Given the description of an element on the screen output the (x, y) to click on. 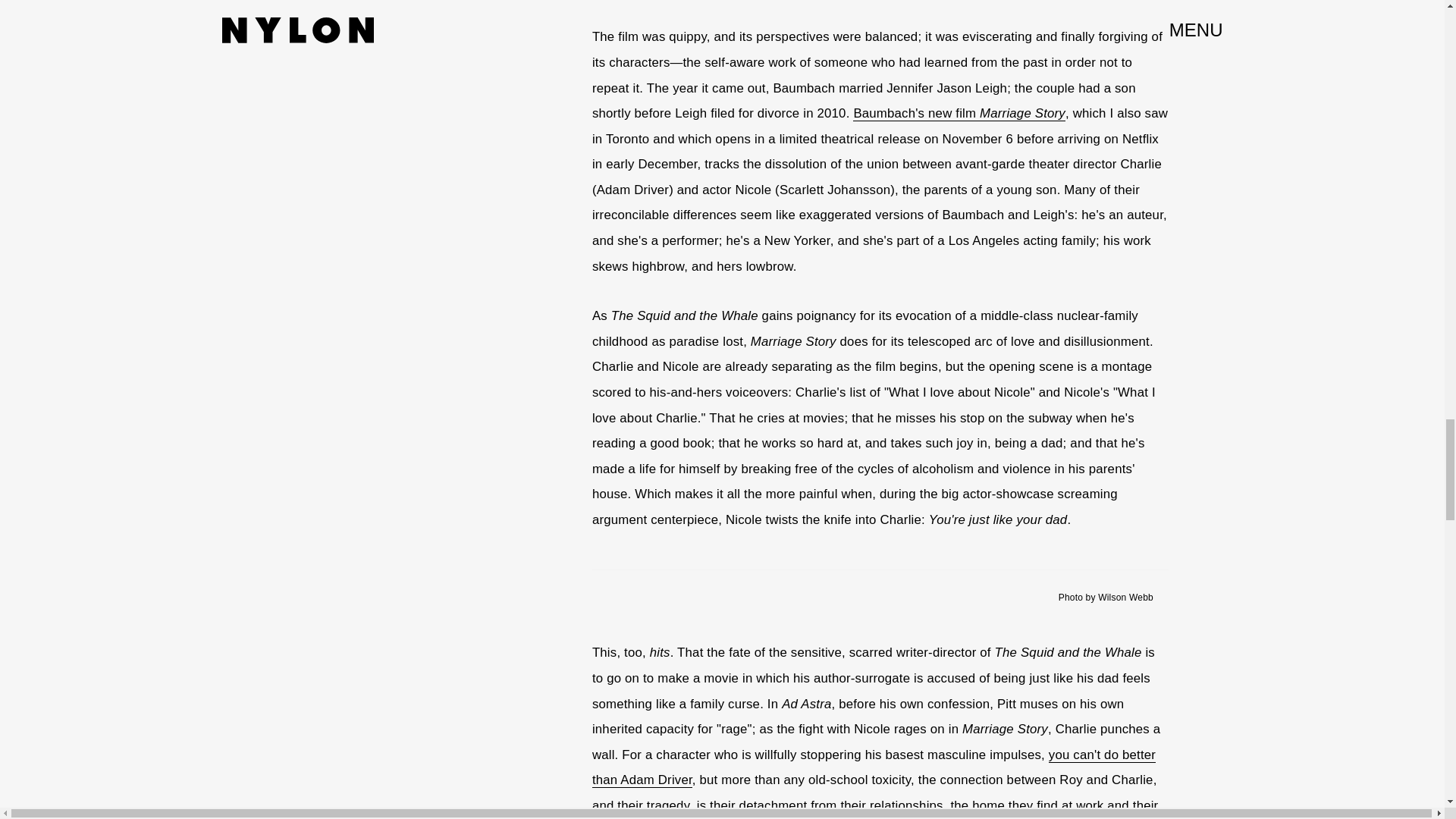
you can't do better than Adam Driver (874, 767)
Marriage Story (1022, 113)
Baumbach's new film (916, 113)
